Given the description of an element on the screen output the (x, y) to click on. 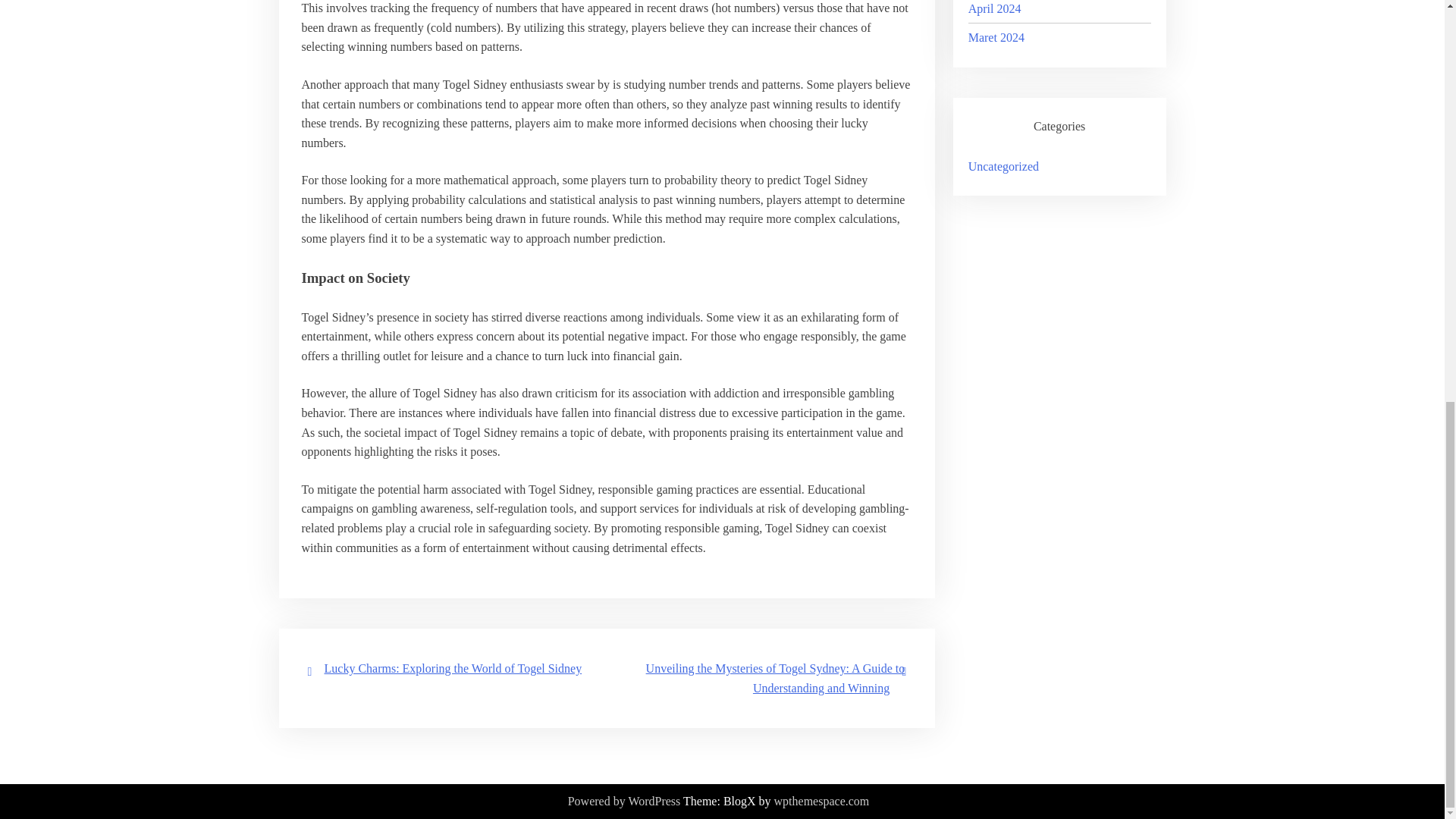
Powered by WordPress (624, 801)
Uncategorized (1003, 165)
Lucky Charms: Exploring the World of Togel Sidney (453, 667)
Maret 2024 (996, 37)
April 2024 (995, 8)
wpthemespace.com (821, 801)
